Given the description of an element on the screen output the (x, y) to click on. 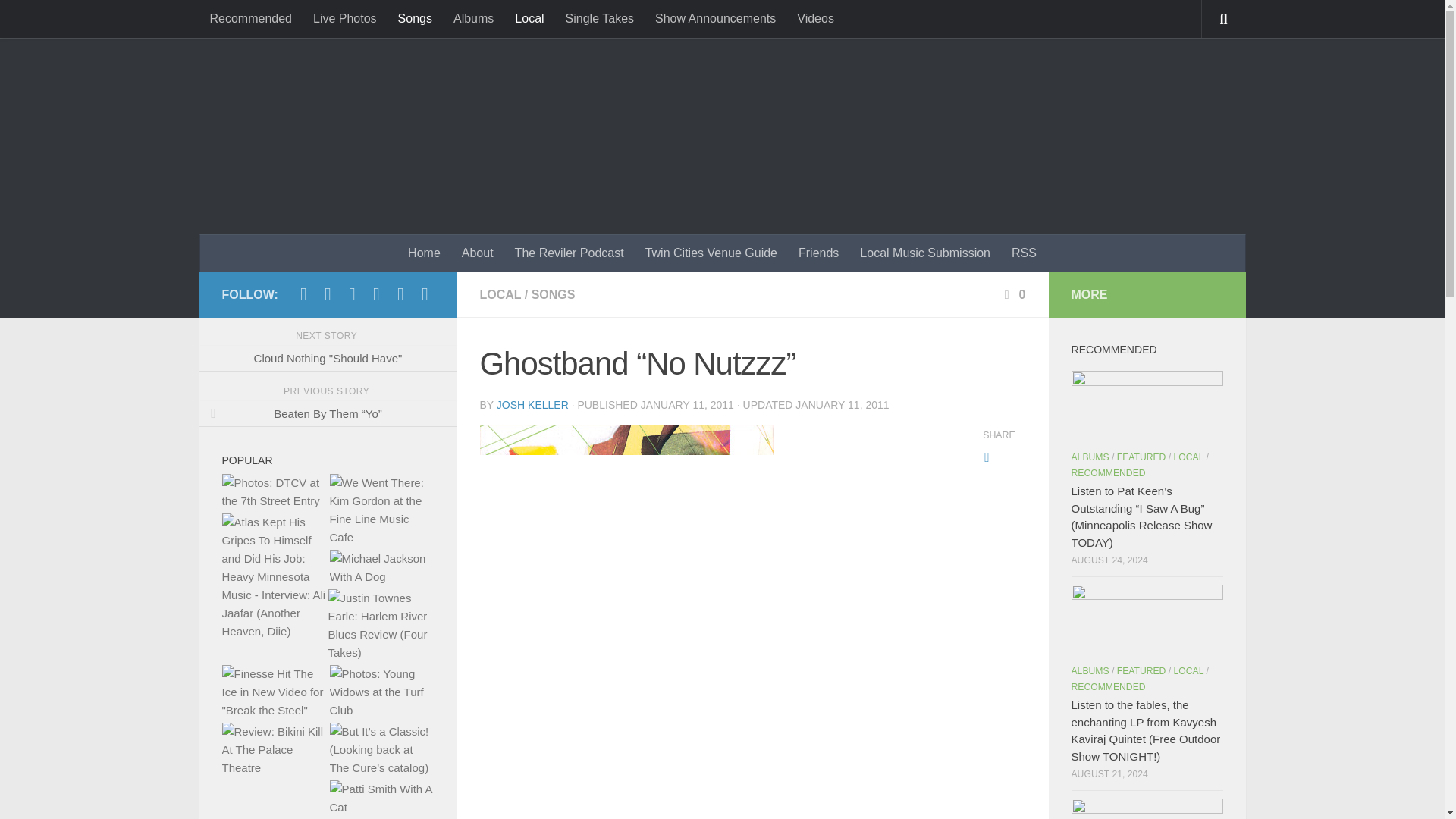
Recommended (250, 18)
About (477, 252)
Single Takes (599, 18)
LOCAL (500, 294)
0 (1013, 294)
SONGS (553, 294)
Posts by josh keller (532, 404)
Albums (472, 18)
Live Photos (344, 18)
RSS (1023, 252)
